Given the description of an element on the screen output the (x, y) to click on. 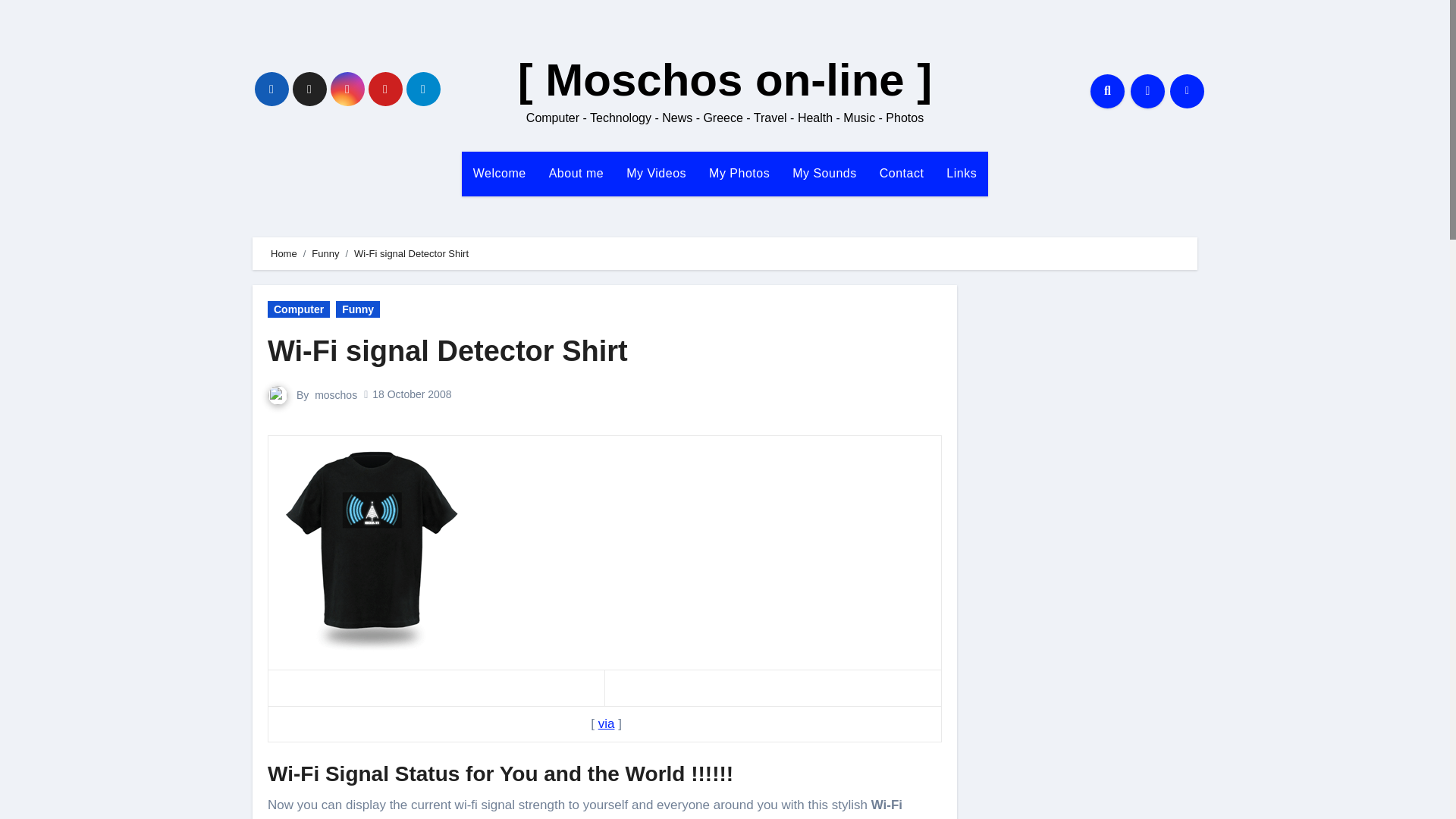
About me (575, 173)
moschos (335, 394)
My Sounds (823, 173)
Links (961, 173)
Permalink to: Wi-Fi signal Detector Shirt (447, 350)
Computer (298, 309)
via (606, 723)
My Videos (655, 173)
My Videos (655, 173)
Funny (325, 253)
18 October 2008 (411, 394)
About me (575, 173)
Welcome (499, 173)
Home (283, 253)
Welcome (499, 173)
